Given the description of an element on the screen output the (x, y) to click on. 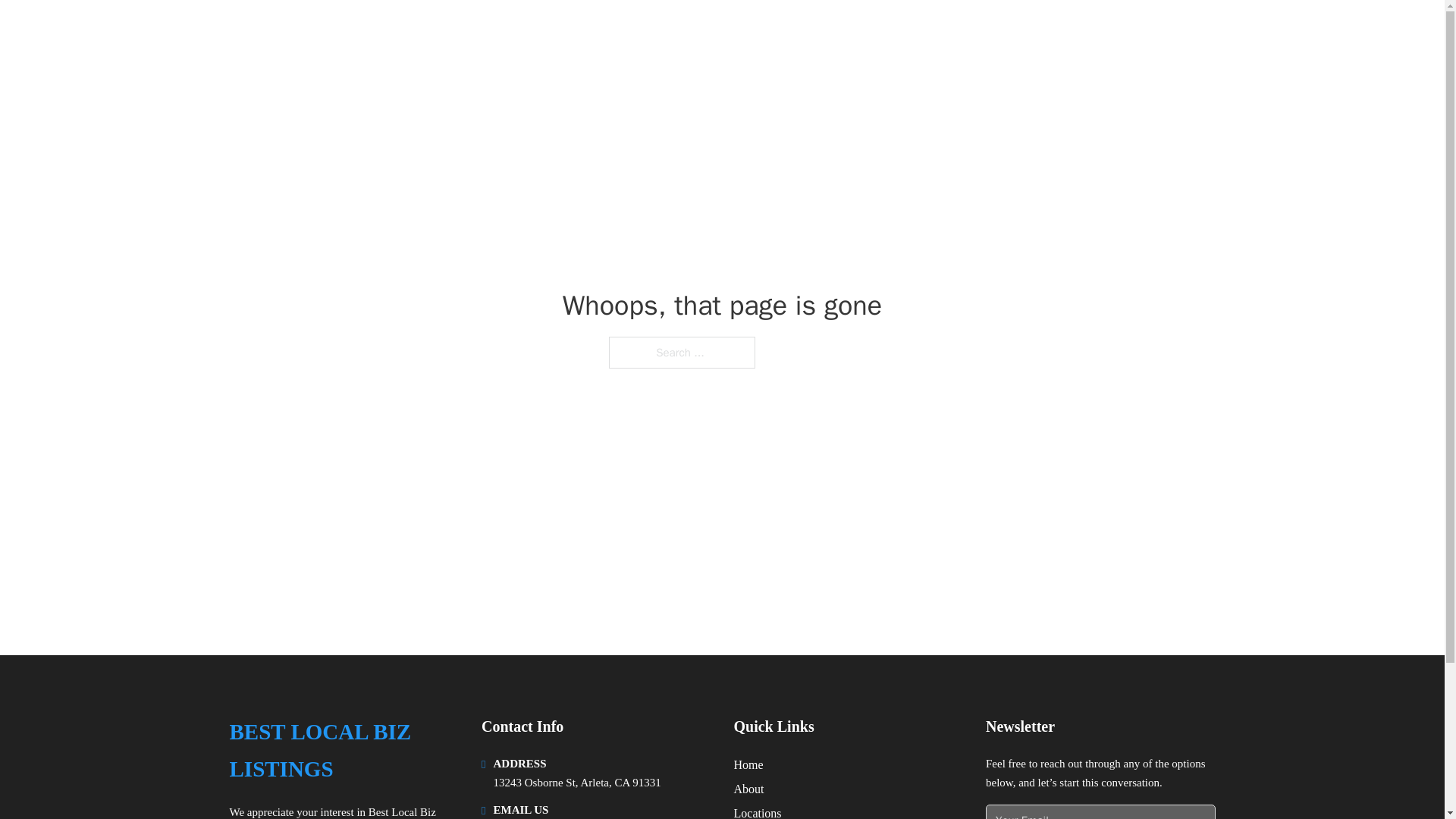
About (748, 788)
BEST LOCAL BIZ LISTINGS (343, 750)
Locations (757, 811)
BEST LOCAL BIZ LISTINGS (389, 31)
Home (747, 764)
HOME (1025, 31)
LOCATIONS (1098, 31)
